Given the description of an element on the screen output the (x, y) to click on. 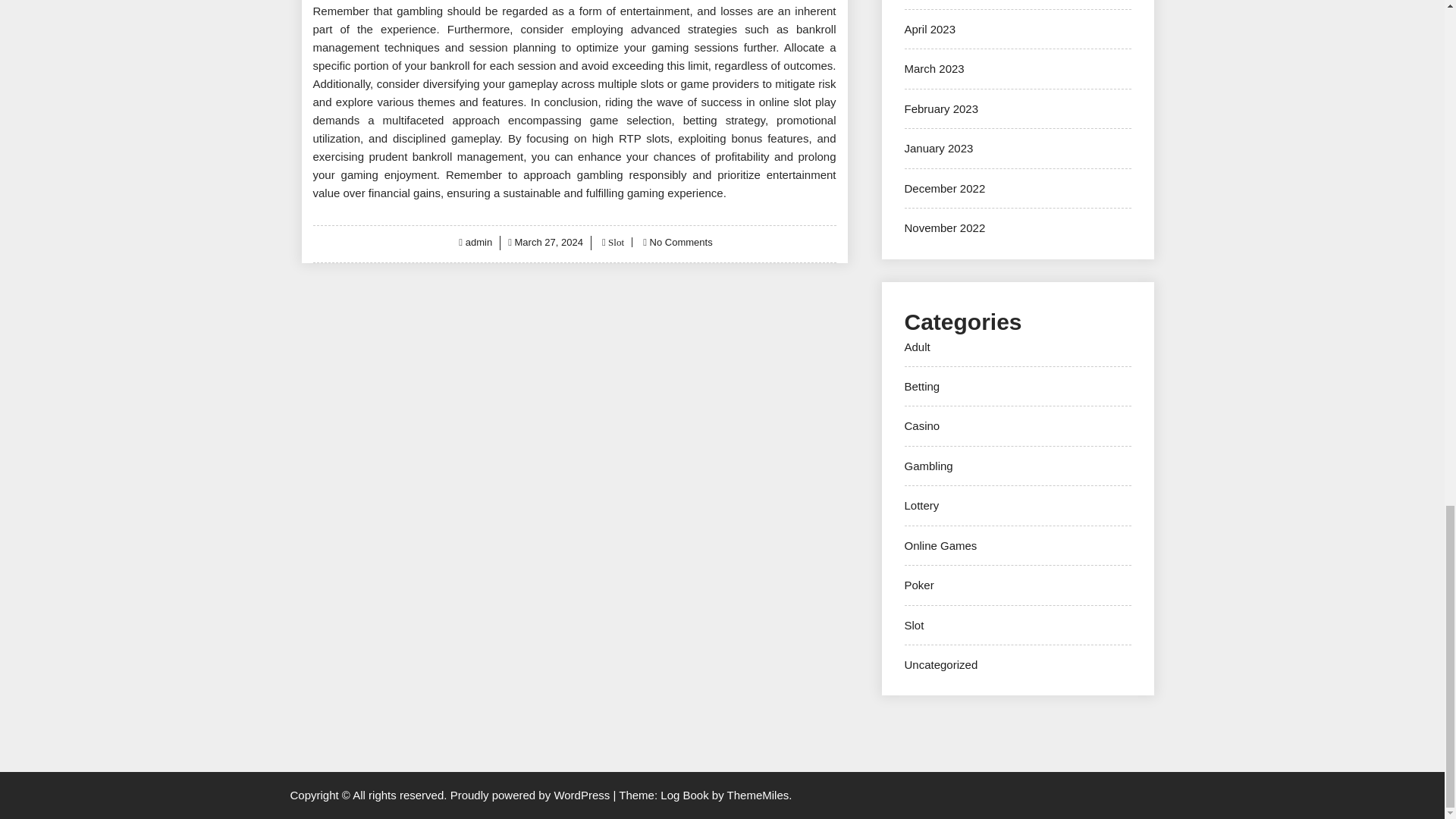
Betting (921, 386)
Slot (614, 242)
February 2023 (941, 108)
Casino (921, 425)
Gambling (928, 465)
March 27, 2024 (549, 242)
December 2022 (944, 187)
November 2022 (944, 227)
admin (478, 242)
Lottery (921, 504)
April 2023 (929, 29)
Online Games (940, 545)
No Comments (681, 242)
March 2023 (933, 68)
Adult (917, 346)
